Given the description of an element on the screen output the (x, y) to click on. 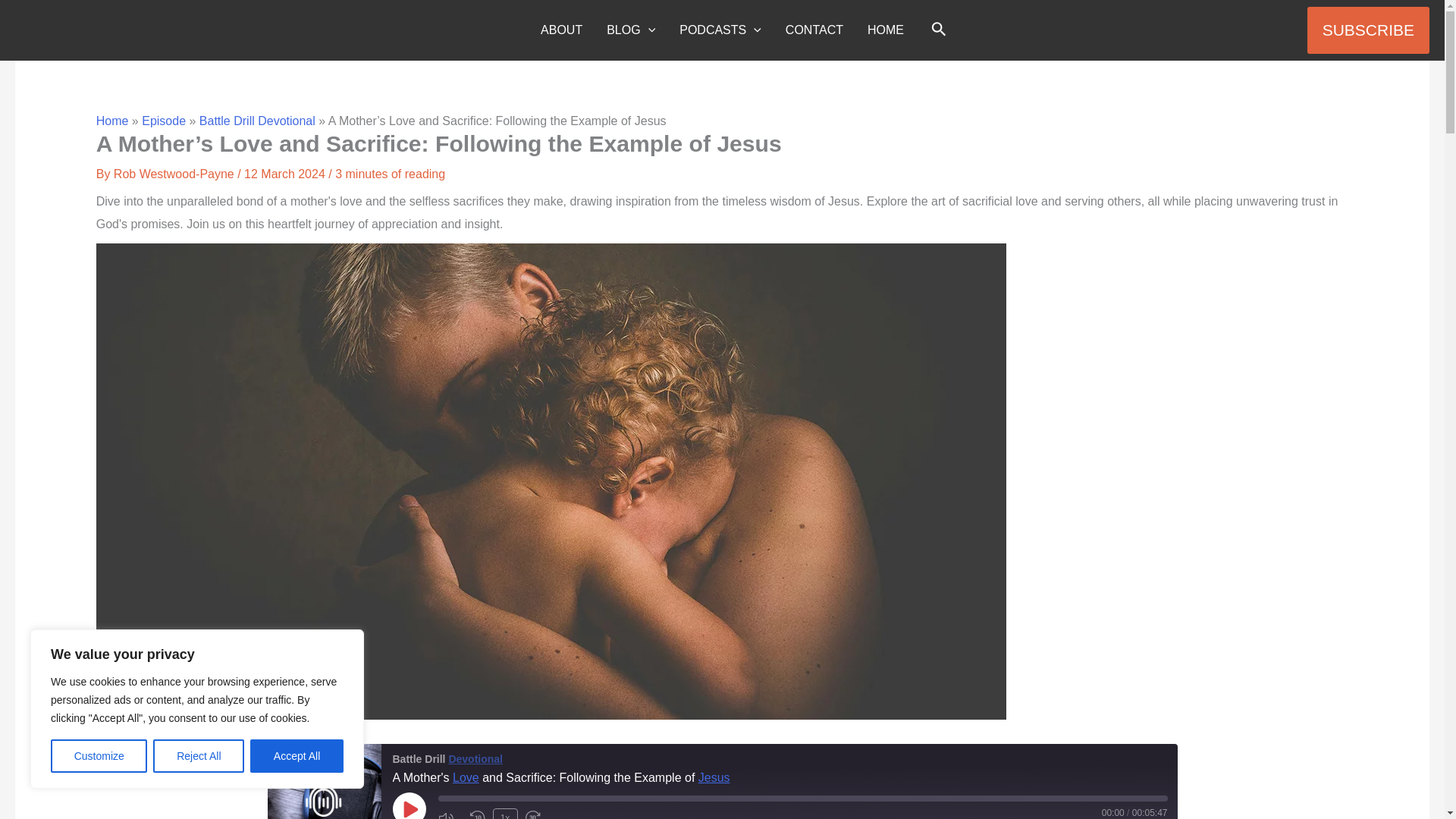
Battle Drill Devotional (323, 781)
ABOUT (561, 30)
HOME (885, 30)
Playback Speed (505, 813)
Rewind 10 seconds (477, 814)
View all posts by Rob Westwood-Payne (175, 173)
CONTACT (814, 30)
BLOG (630, 30)
SUBSCRIBE (1368, 29)
